Given the description of an element on the screen output the (x, y) to click on. 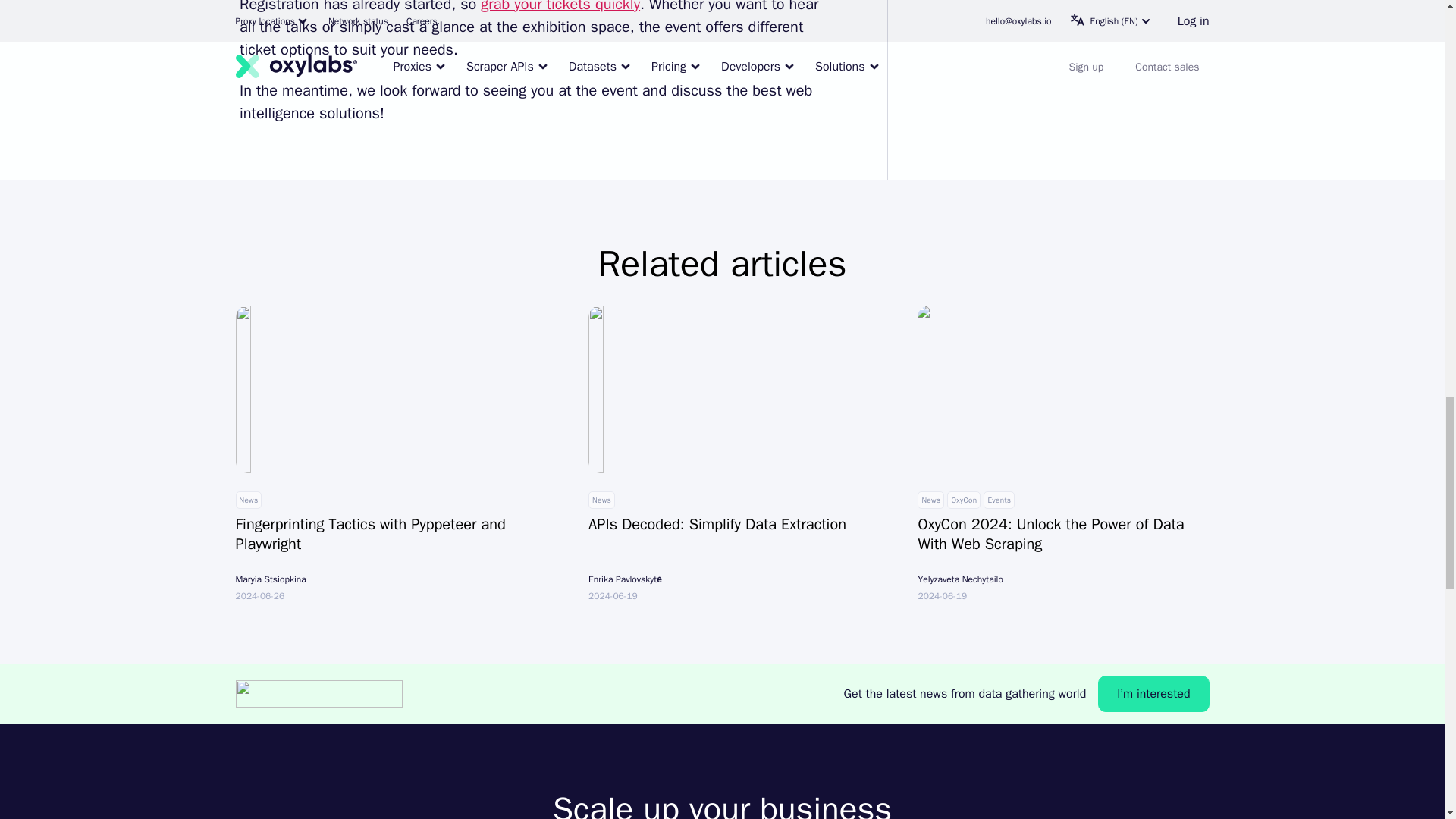
OxyCon 2024: Unlock the Power of Data With Web Scraping (1062, 537)
OxyCon (963, 499)
News (248, 499)
APIs Decoded: Simplify Data Extraction (737, 527)
grab your tickets quickly (560, 6)
News (601, 499)
Fingerprinting Tactics with Pyppeteer and Playwright (395, 537)
News (930, 499)
Events (999, 499)
